Given the description of an element on the screen output the (x, y) to click on. 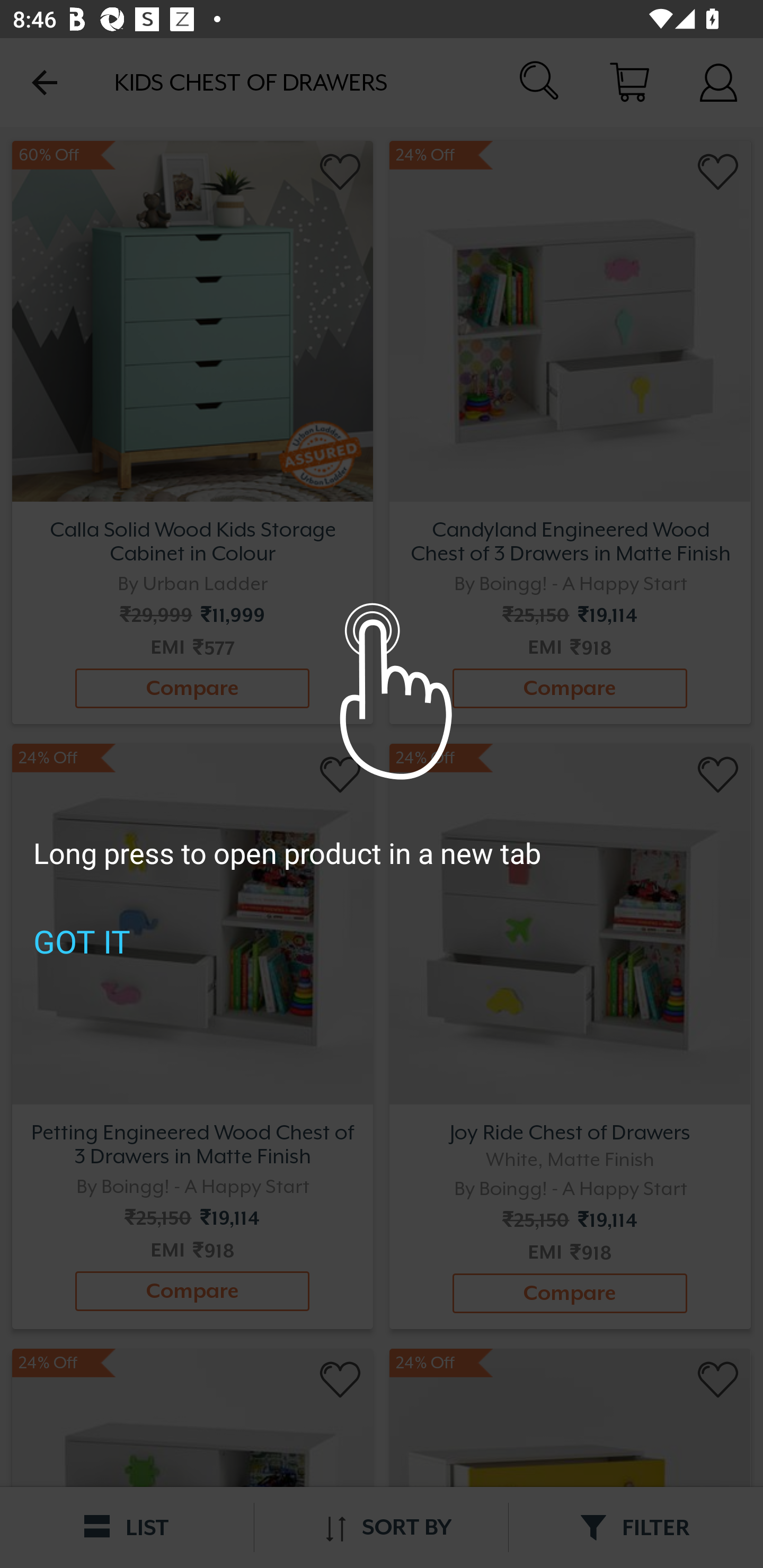
GOT IT (81, 940)
